Given the description of an element on the screen output the (x, y) to click on. 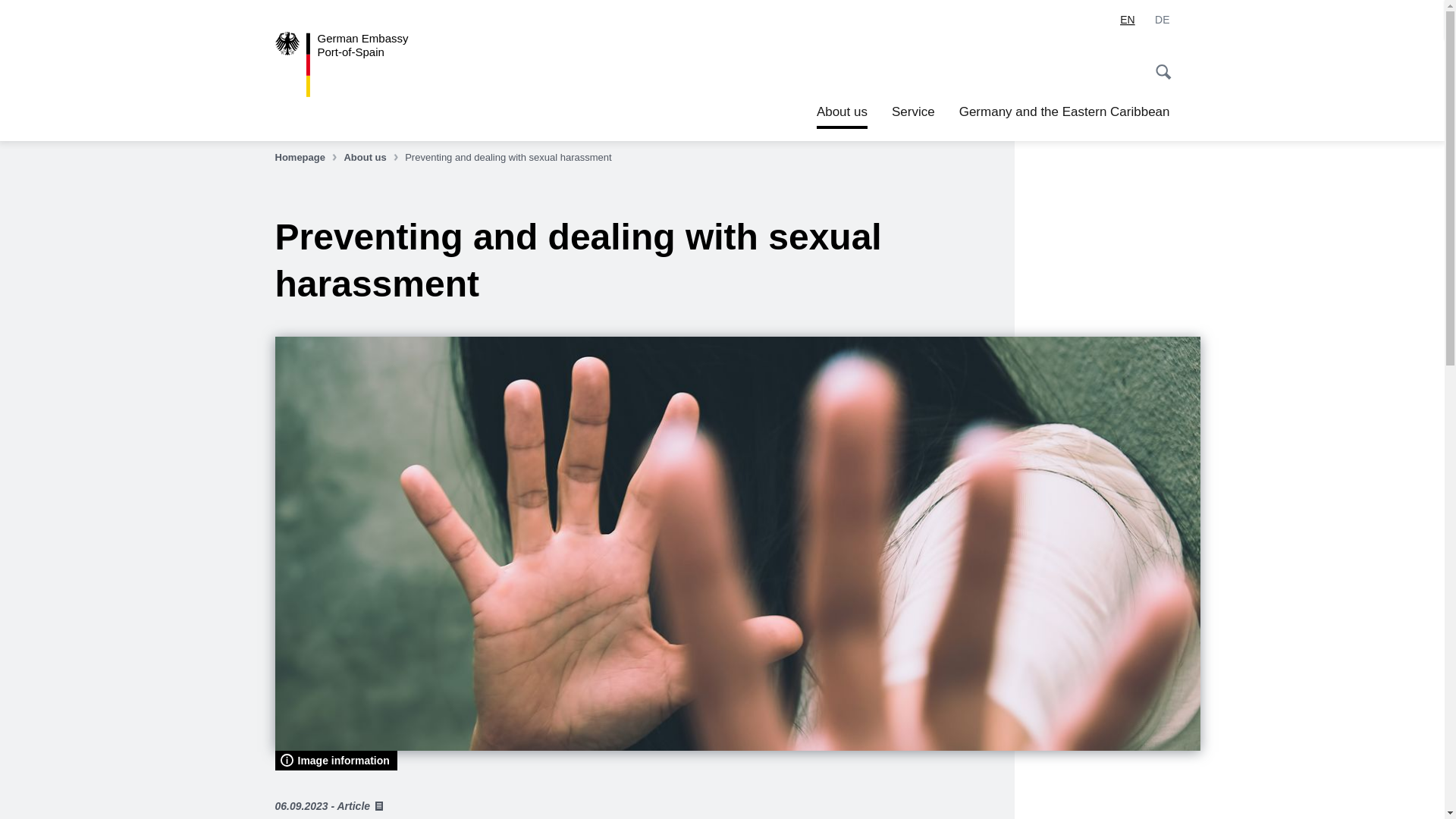
Germany and the Eastern Caribbean (1064, 111)
Homepage (363, 64)
DE (307, 157)
German Embassy Port-of-Spain (1161, 20)
Image information (363, 64)
About us (335, 760)
Deutsch (372, 157)
About us (1161, 19)
English (372, 157)
Homepage (1126, 19)
Service (307, 157)
About us (912, 111)
